Given the description of an element on the screen output the (x, y) to click on. 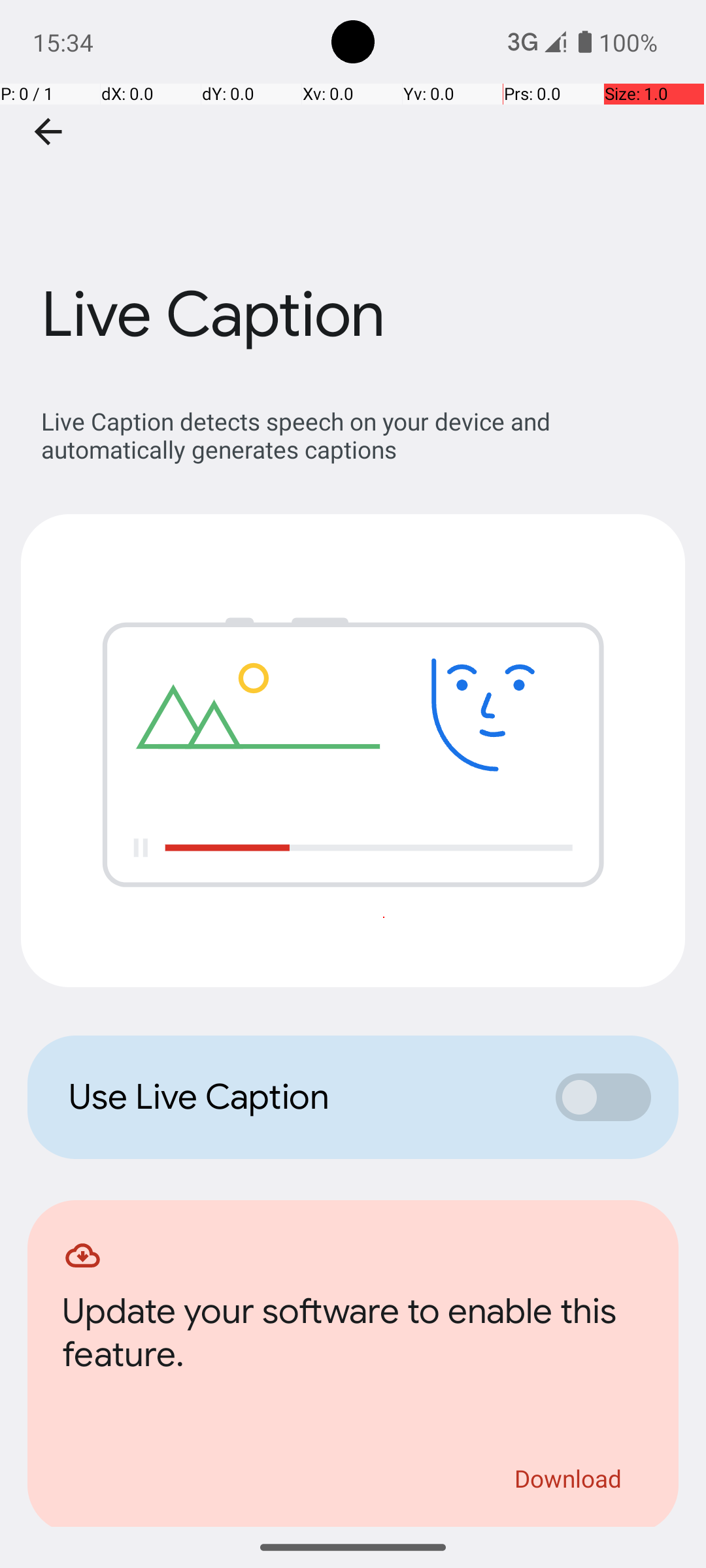
Live Caption Element type: android.widget.FrameLayout (353, 195)
Live Caption detects speech on your device and automatically generates captions Element type: android.widget.TextView (359, 434)
Use Live Caption Element type: android.widget.TextView (298, 1096)
Update your software to enable this feature. Element type: android.widget.TextView (352, 1336)
Download Element type: android.widget.Button (567, 1478)
